Given the description of an element on the screen output the (x, y) to click on. 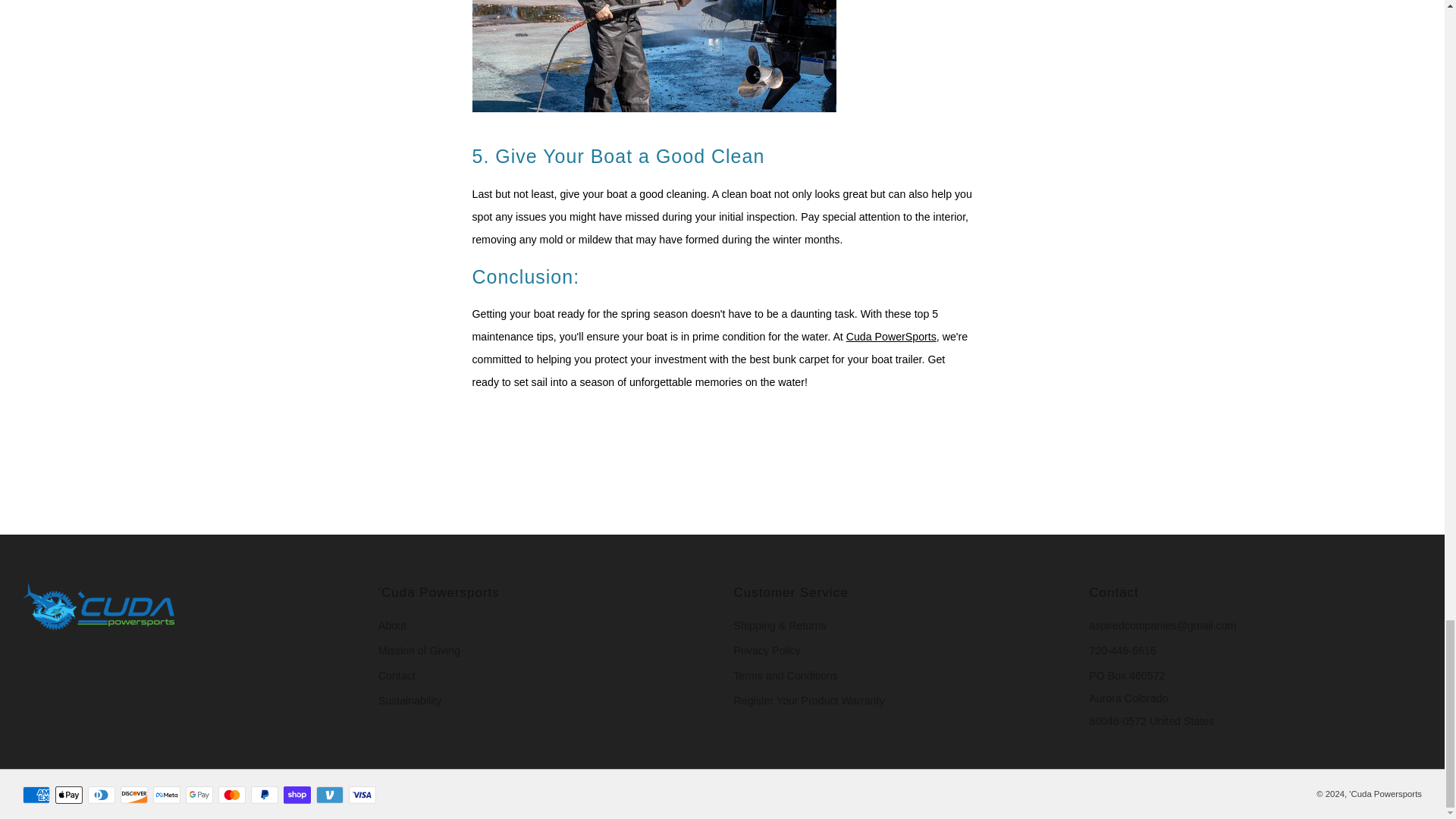
Apple Pay (68, 794)
Mastercard (232, 794)
Visa (362, 794)
Diners Club (101, 794)
Shop Pay (297, 794)
Discover (134, 794)
American Express (36, 794)
Venmo (329, 794)
Google Pay (199, 794)
PayPal (264, 794)
Meta Pay (166, 794)
